Given the description of an element on the screen output the (x, y) to click on. 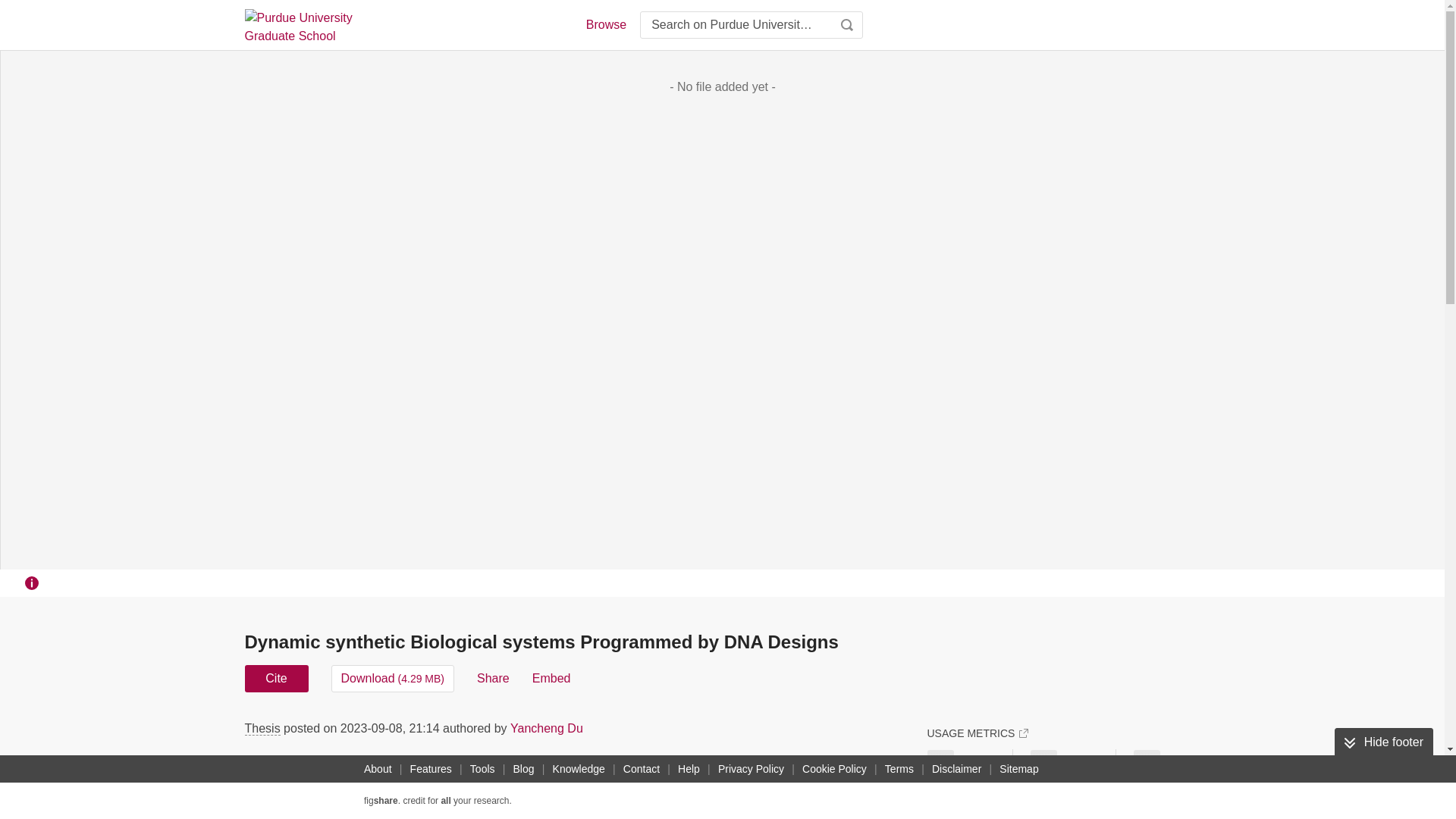
Knowledge (579, 769)
Embed (551, 678)
Browse (605, 24)
Cite (275, 678)
Sitemap (1018, 769)
USAGE METRICS (976, 732)
Contact (640, 769)
Blog (523, 769)
Share (493, 678)
Terms (899, 769)
